Given the description of an element on the screen output the (x, y) to click on. 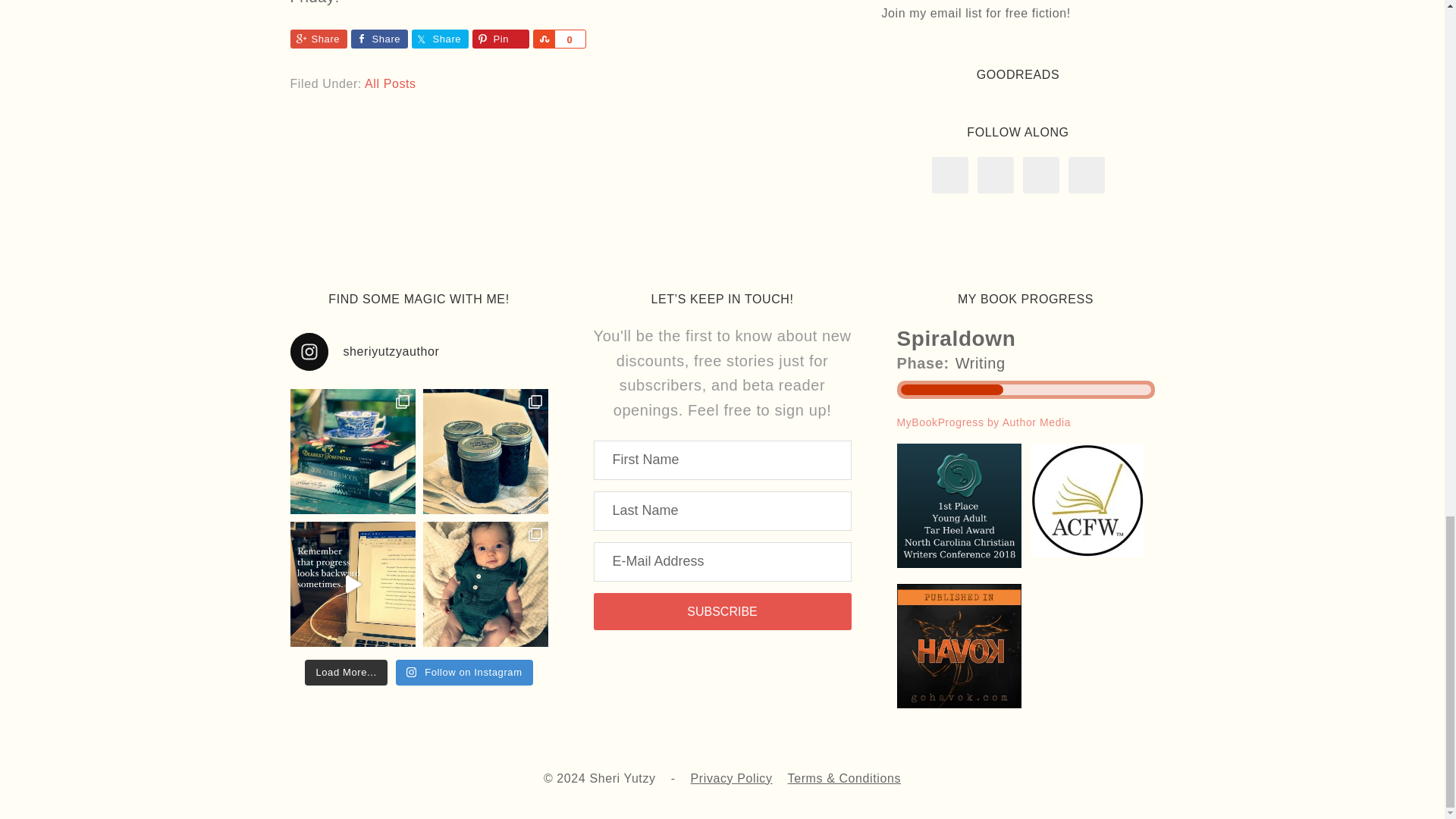
sheriyutzyauthor (418, 351)
Share (317, 37)
Pin (499, 37)
Share (542, 37)
SUBSCRIBE (721, 610)
Share (378, 37)
All Posts (390, 83)
0 (569, 37)
Share (438, 37)
